Given the description of an element on the screen output the (x, y) to click on. 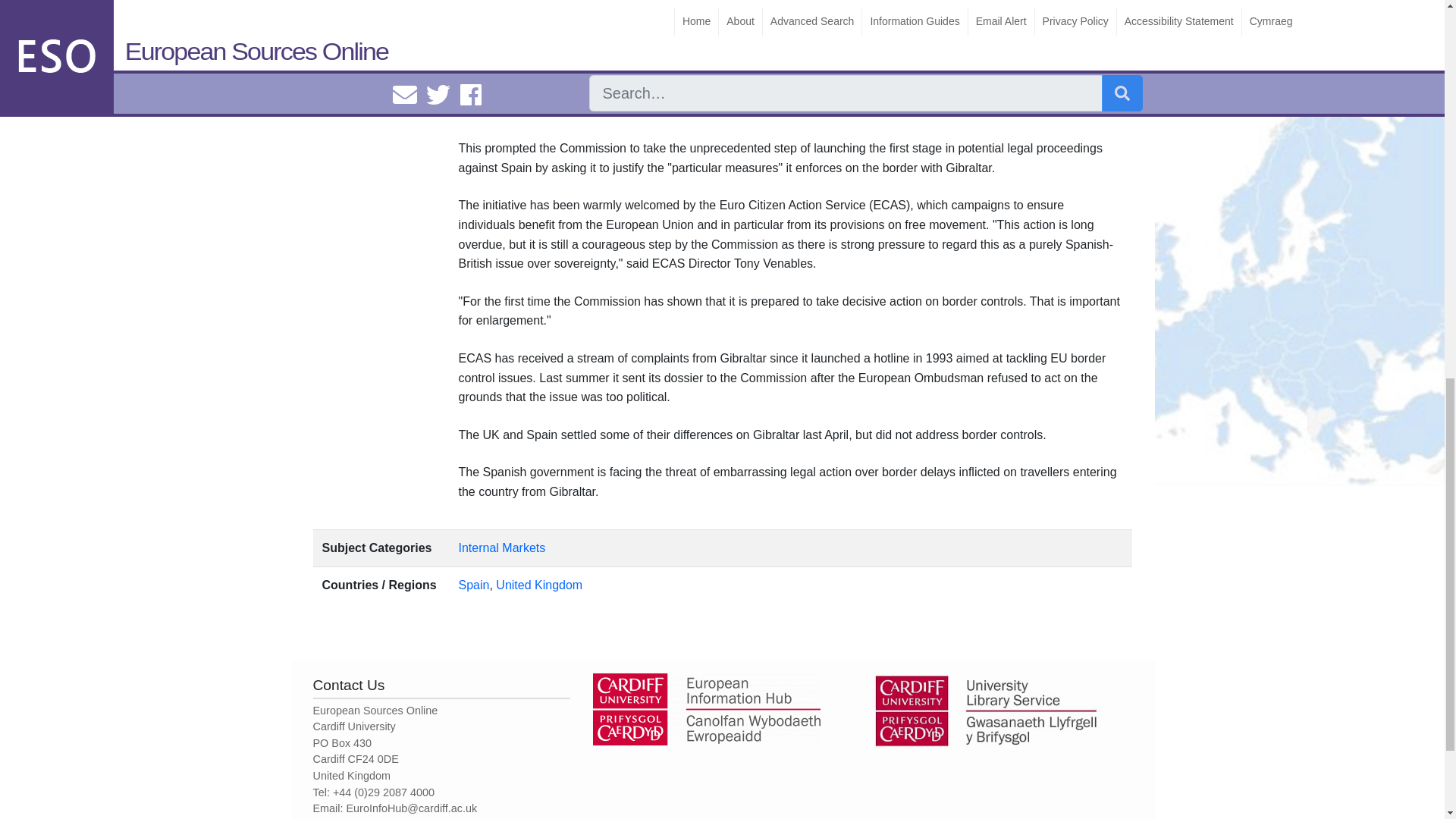
United Kingdom (539, 584)
Spain (473, 584)
Internal Markets (502, 547)
